Given the description of an element on the screen output the (x, y) to click on. 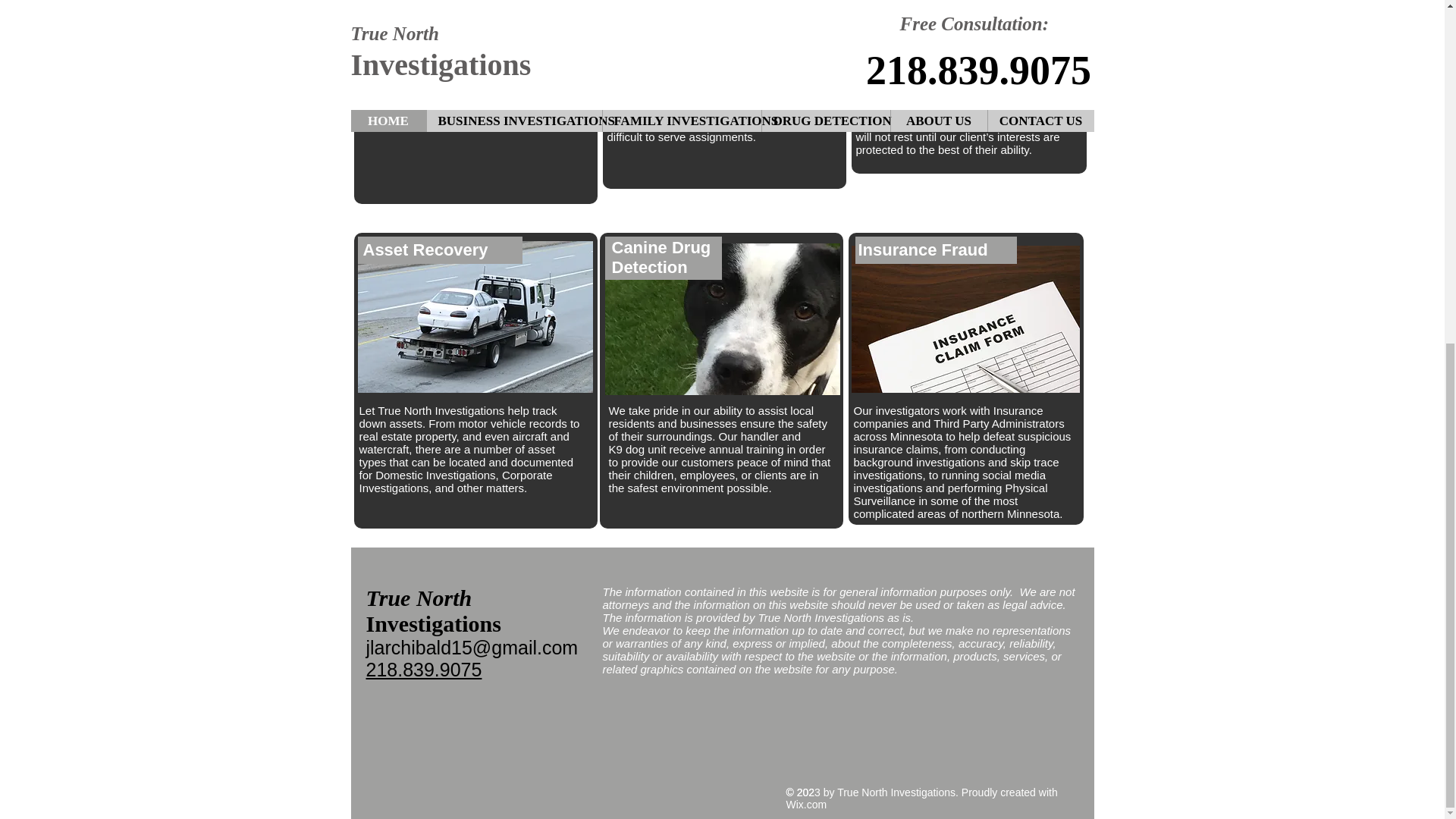
Wix.com (806, 804)
218.839.9075 (423, 669)
Elder Justice Coalition (433, 110)
